Given the description of an element on the screen output the (x, y) to click on. 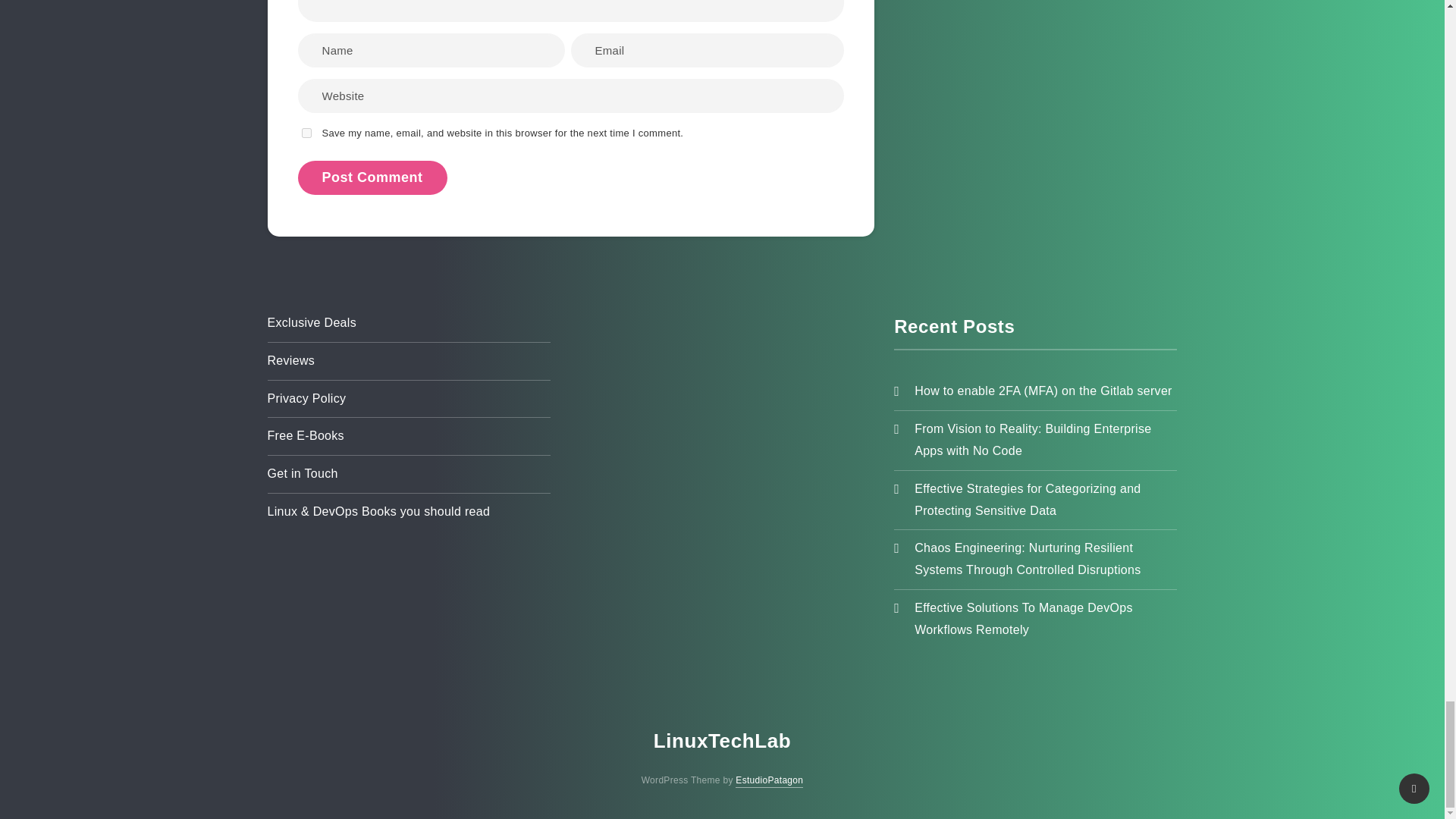
Powered with Breek (769, 780)
Post Comment (371, 177)
yes (306, 132)
